Given the description of an element on the screen output the (x, y) to click on. 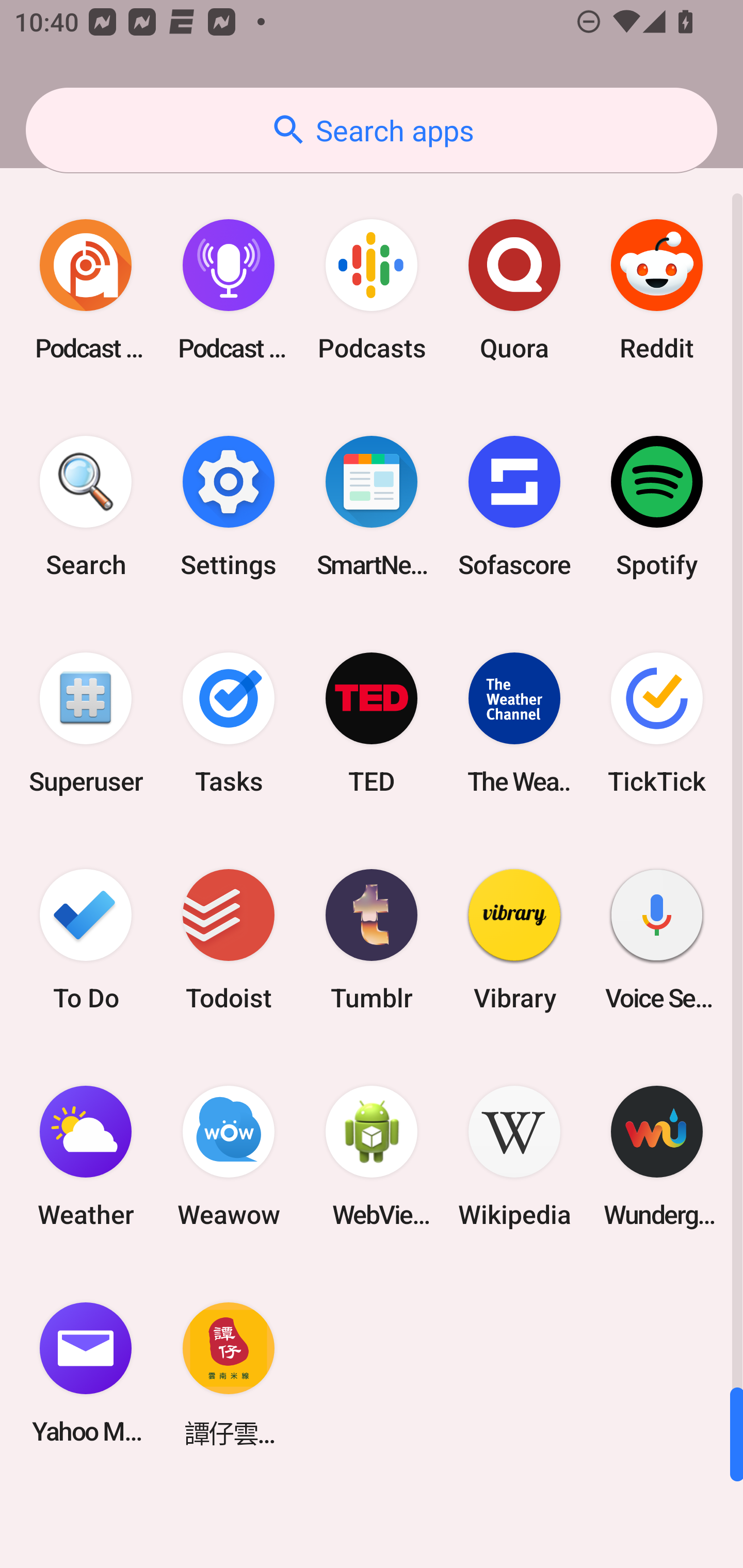
  Search apps (371, 130)
Podcast Addict (85, 289)
Podcast Player (228, 289)
Podcasts (371, 289)
Quora (514, 289)
Reddit (656, 289)
Search (85, 506)
Settings (228, 506)
SmartNews (371, 506)
Sofascore (514, 506)
Spotify (656, 506)
Superuser (85, 722)
Tasks (228, 722)
TED (371, 722)
The Weather Channel (514, 722)
TickTick (656, 722)
To Do (85, 939)
Todoist (228, 939)
Tumblr (371, 939)
Vibrary (514, 939)
Voice Search (656, 939)
Weather (85, 1156)
Weawow (228, 1156)
WebView Browser Tester (371, 1156)
Wikipedia (514, 1156)
Wunderground (656, 1156)
Yahoo Mail (85, 1373)
譚仔雲南米線 (228, 1373)
